Given the description of an element on the screen output the (x, y) to click on. 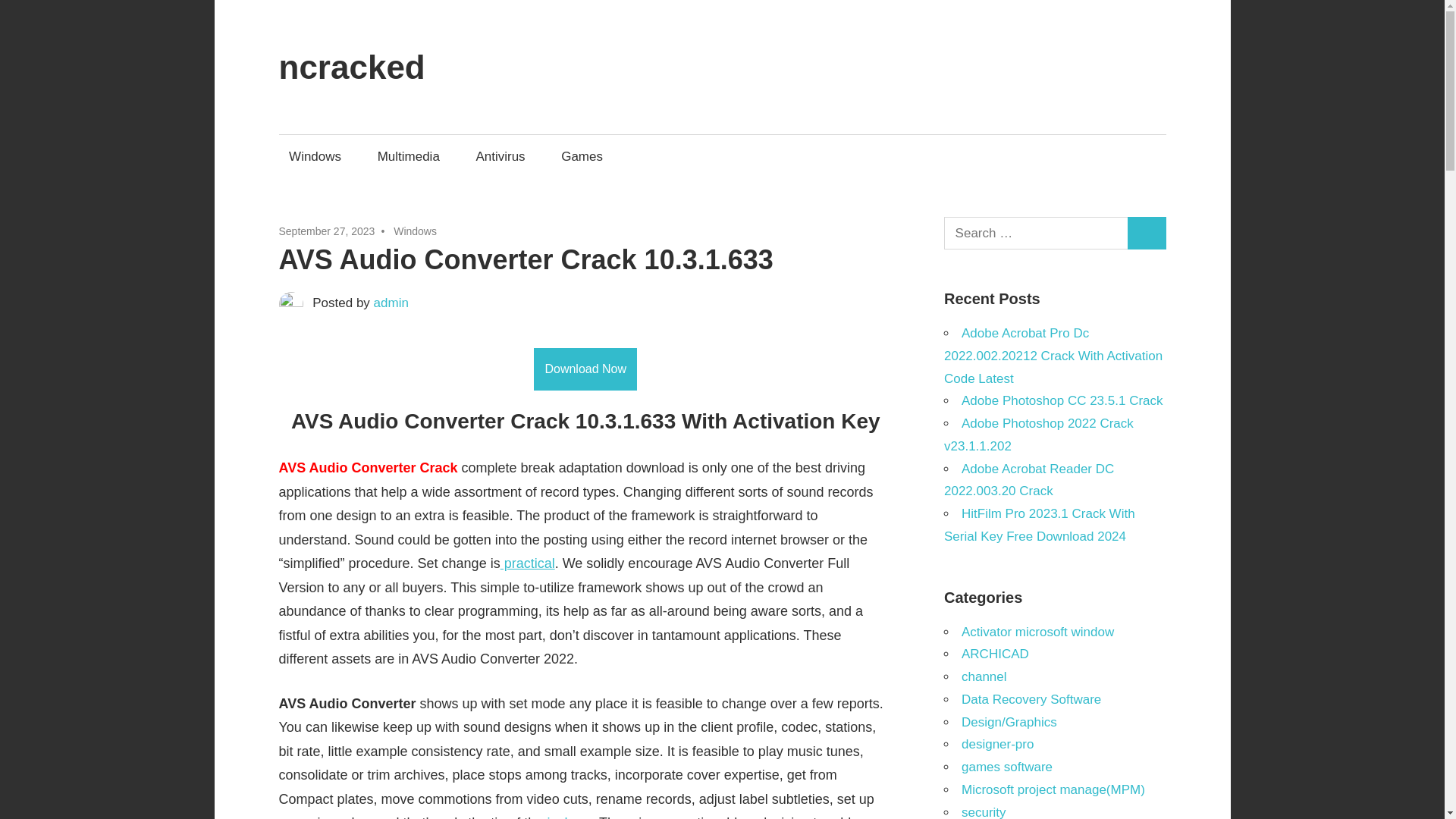
admin (391, 302)
Adobe Photoshop 2022 Crack v23.1.1.202 (1038, 434)
9:56 am (327, 231)
Search (1146, 233)
Download Now (585, 368)
ncracked (352, 66)
Download Now (585, 369)
Windows (414, 231)
Antivirus (500, 156)
 practical (527, 563)
View all posts by admin (391, 302)
Games (581, 156)
September 27, 2023 (327, 231)
iceberg (569, 816)
Adobe Photoshop CC 23.5.1 Crack (1061, 400)
